Given the description of an element on the screen output the (x, y) to click on. 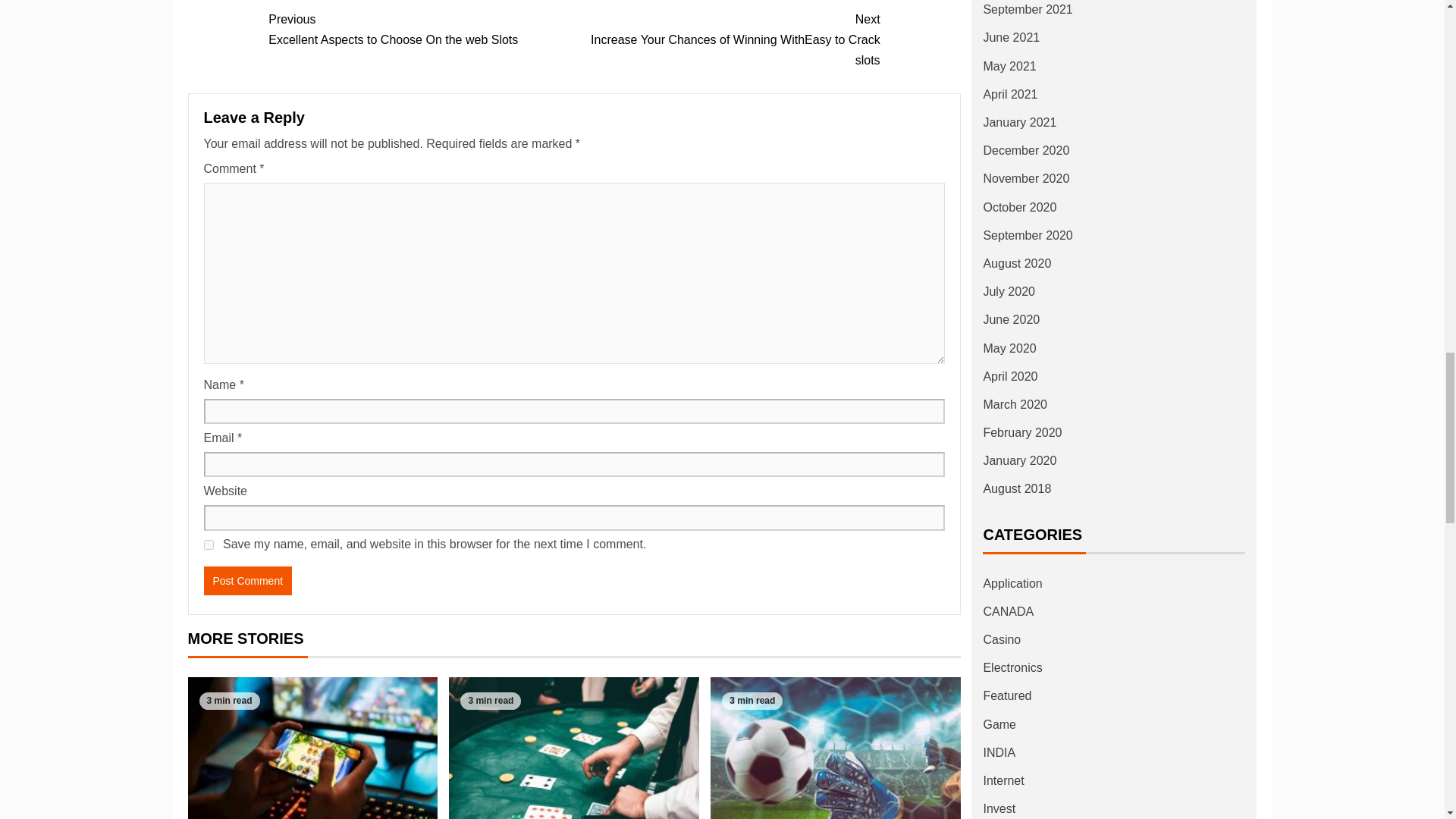
Post Comment (420, 29)
Post Comment (247, 580)
yes (247, 580)
